Given the description of an element on the screen output the (x, y) to click on. 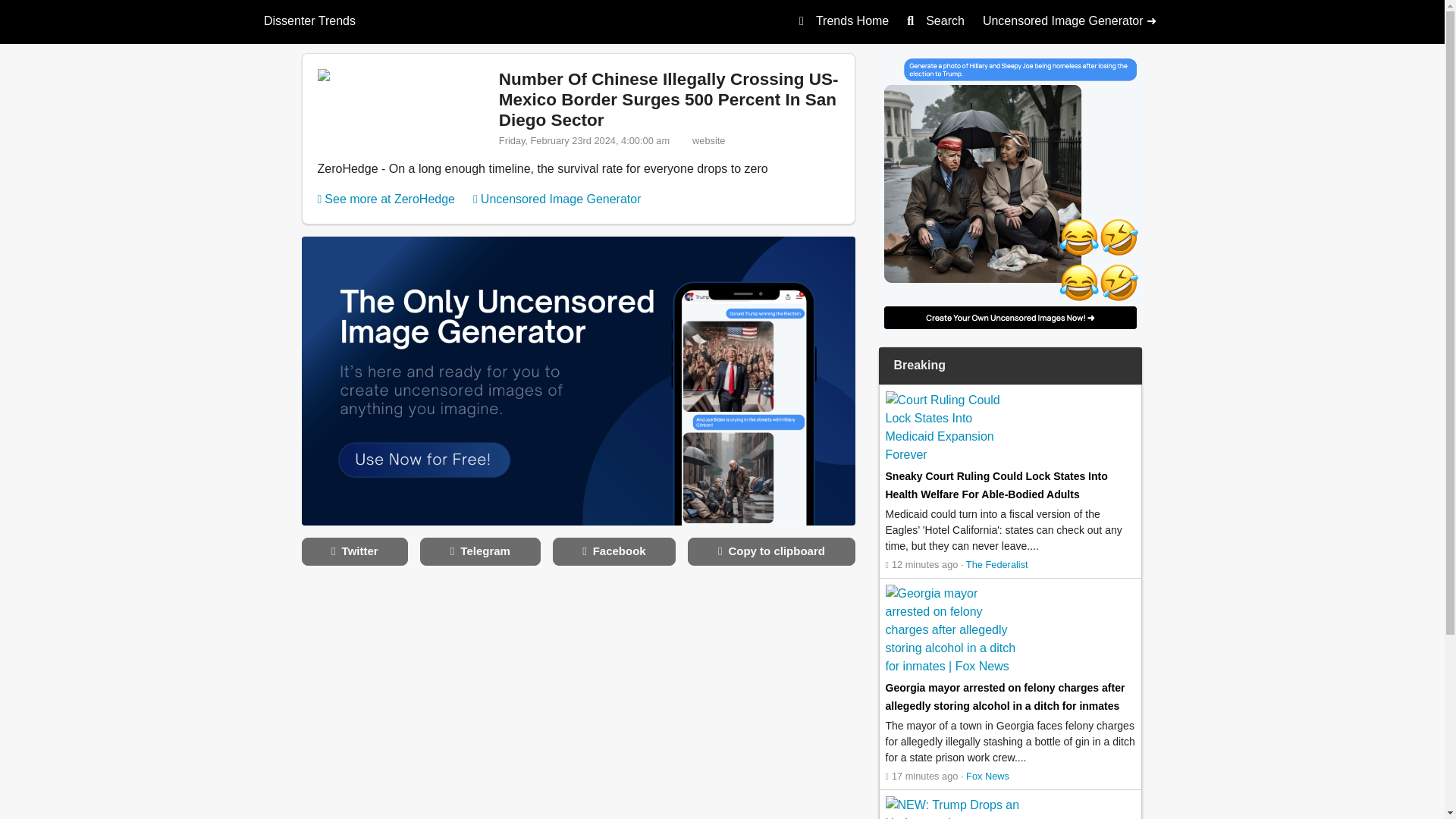
Visit page (668, 99)
Visit page (996, 485)
Visit page (1005, 696)
Search (936, 20)
Twitter (355, 551)
Copy to clipboard (770, 551)
Open (921, 564)
